Given the description of an element on the screen output the (x, y) to click on. 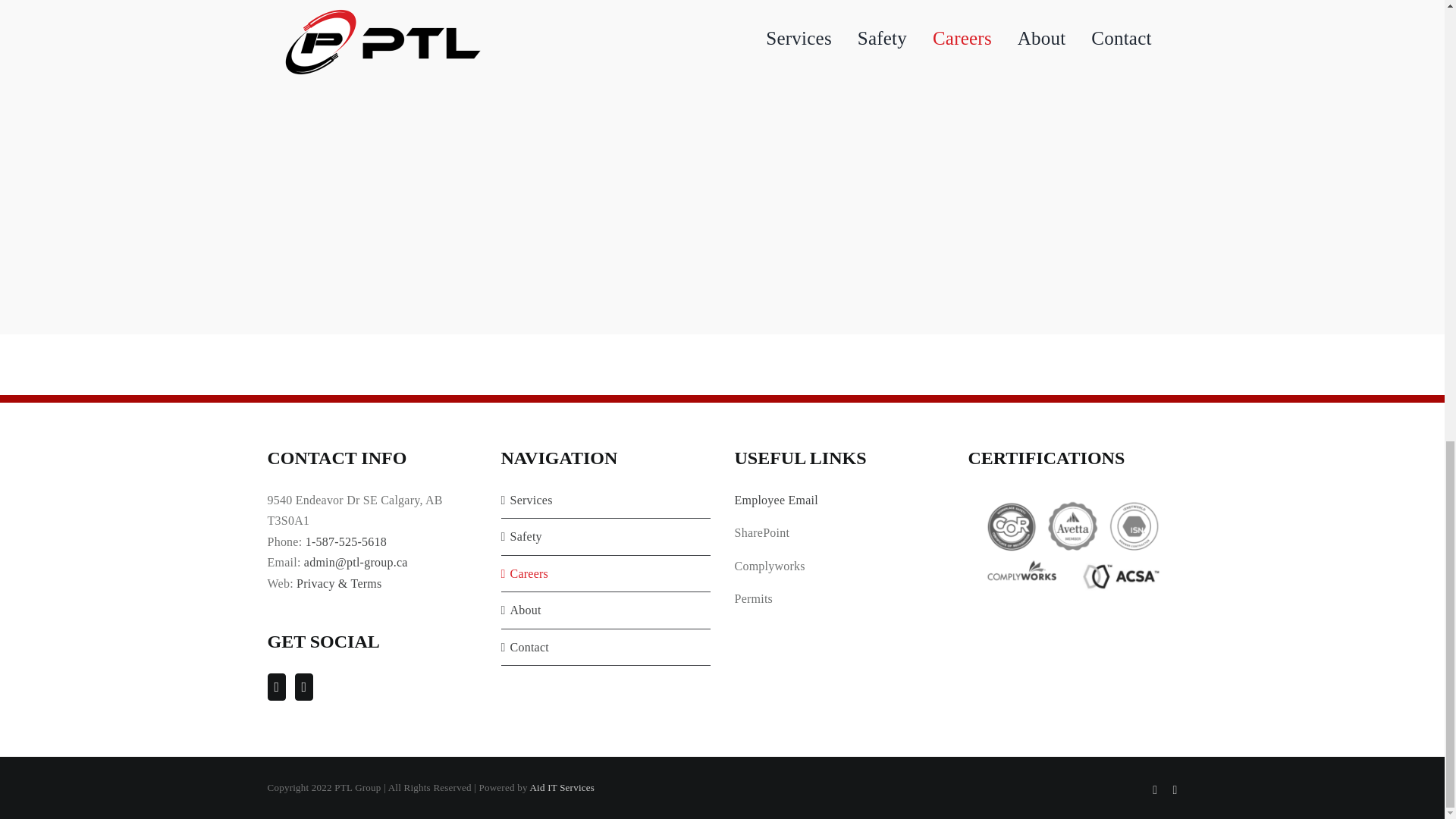
1-587-525-5618 (346, 541)
Services (605, 500)
Aid IT Services (561, 787)
Careers (605, 573)
About (605, 609)
Contact (605, 647)
Safety (605, 536)
Employee Email (774, 499)
